Given the description of an element on the screen output the (x, y) to click on. 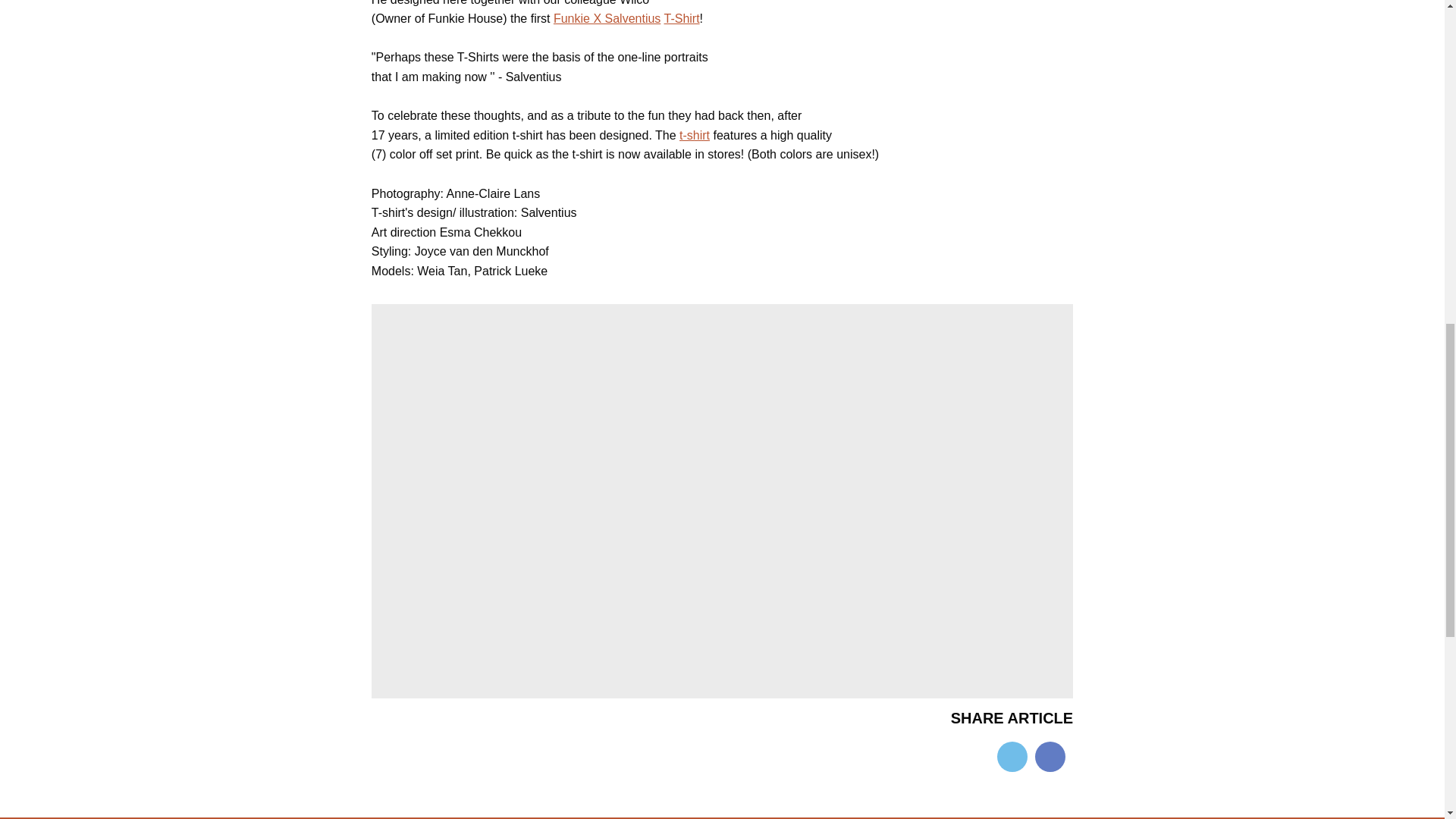
facebook-alt (1050, 755)
twitter (1012, 755)
